Given the description of an element on the screen output the (x, y) to click on. 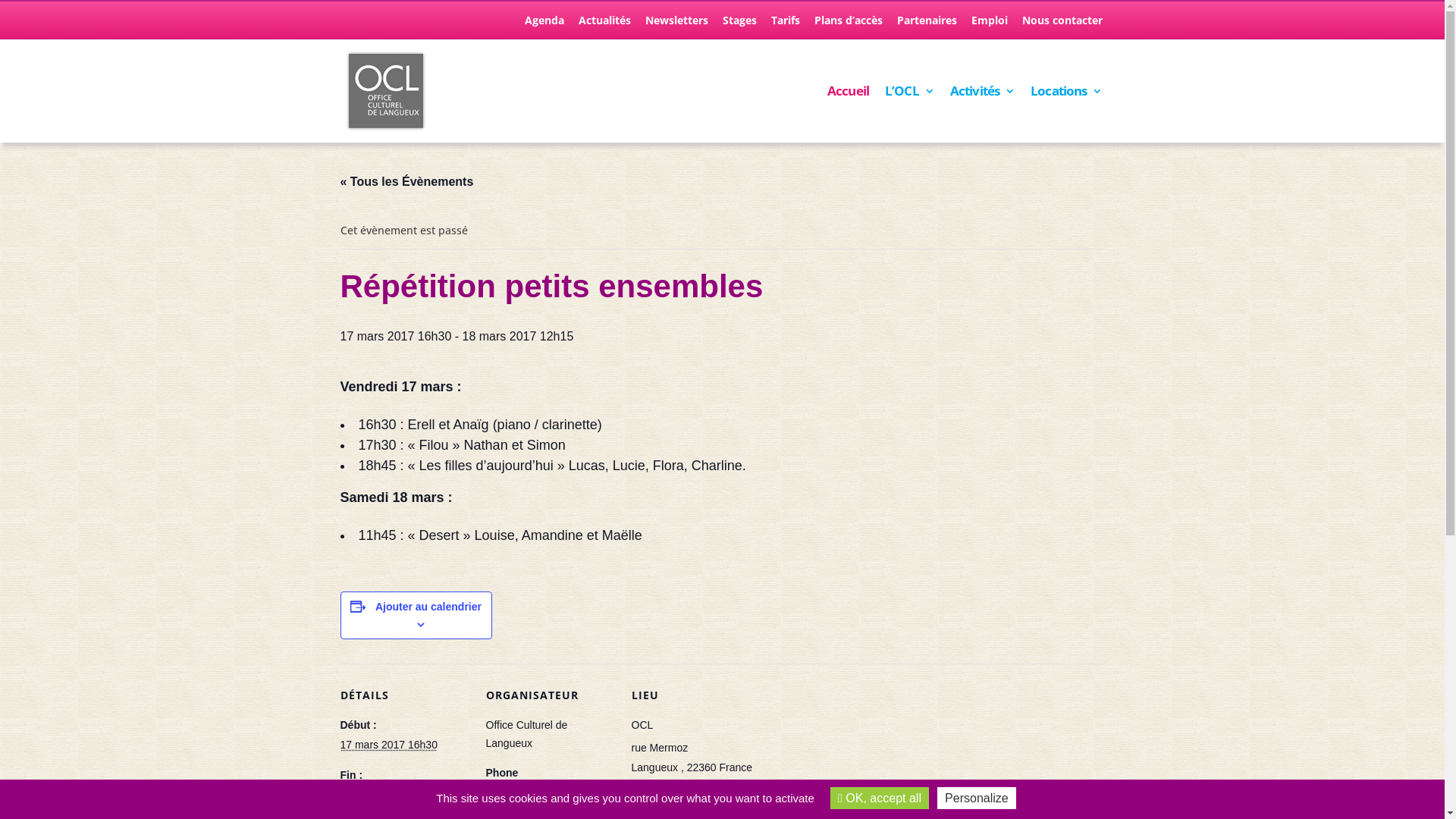
Ajouter au calendrier Element type: text (428, 606)
Newsletters Element type: text (675, 24)
Personalize Element type: text (976, 798)
OK, accept all Element type: text (879, 798)
Nous contacter Element type: text (1062, 24)
Locations Element type: text (1065, 113)
Stages Element type: text (738, 24)
Accueil Element type: text (848, 113)
Agenda Element type: text (544, 24)
Tarifs Element type: text (784, 24)
Partenaires Element type: text (926, 24)
+ Google Map Element type: text (663, 787)
Emploi Element type: text (988, 24)
